Given the description of an element on the screen output the (x, y) to click on. 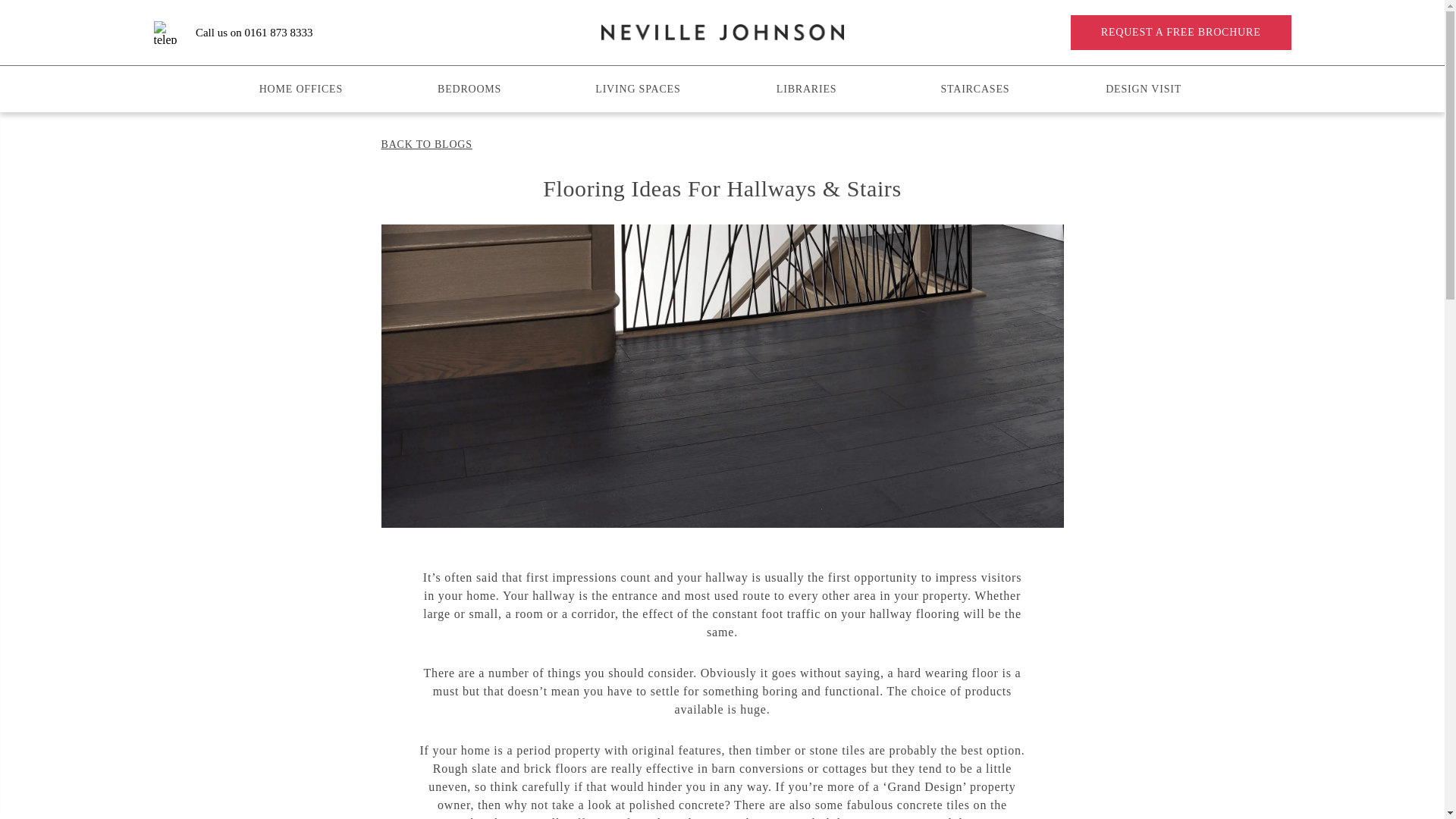
LIVING SPACES (637, 89)
LIBRARIES (805, 89)
HOME OFFICES (300, 89)
STAIRCASES (975, 89)
DESIGN VISIT (1143, 89)
BEDROOMS (469, 89)
REQUEST A FREE BROCHURE (1180, 32)
0161 873 8333 (278, 31)
